Given the description of an element on the screen output the (x, y) to click on. 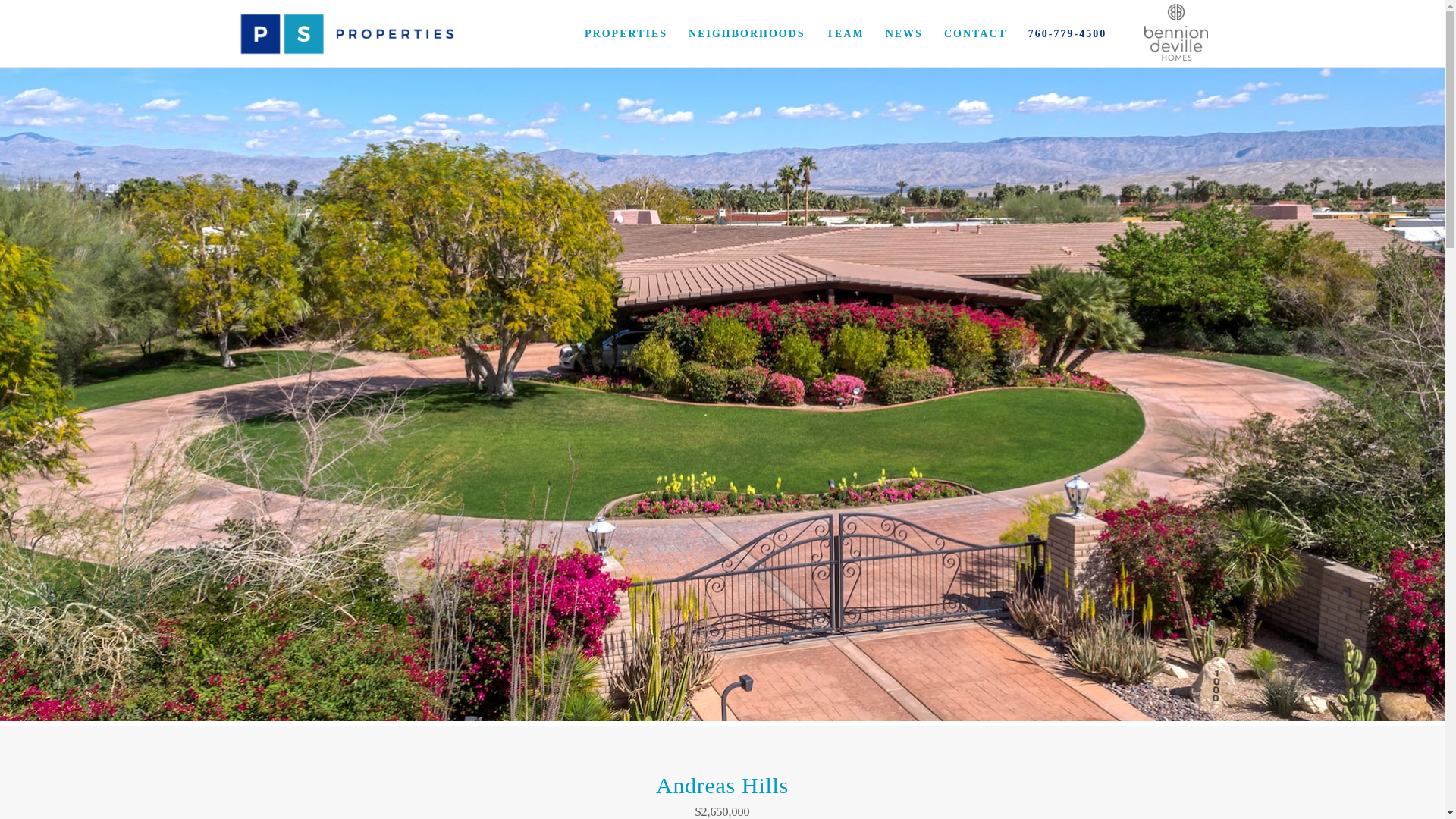
NEWS (893, 33)
TEAM (834, 33)
NEIGHBORHOODS (735, 33)
CONTACT (965, 33)
760-779-4500 (1056, 33)
PROPERTIES (614, 33)
